Given the description of an element on the screen output the (x, y) to click on. 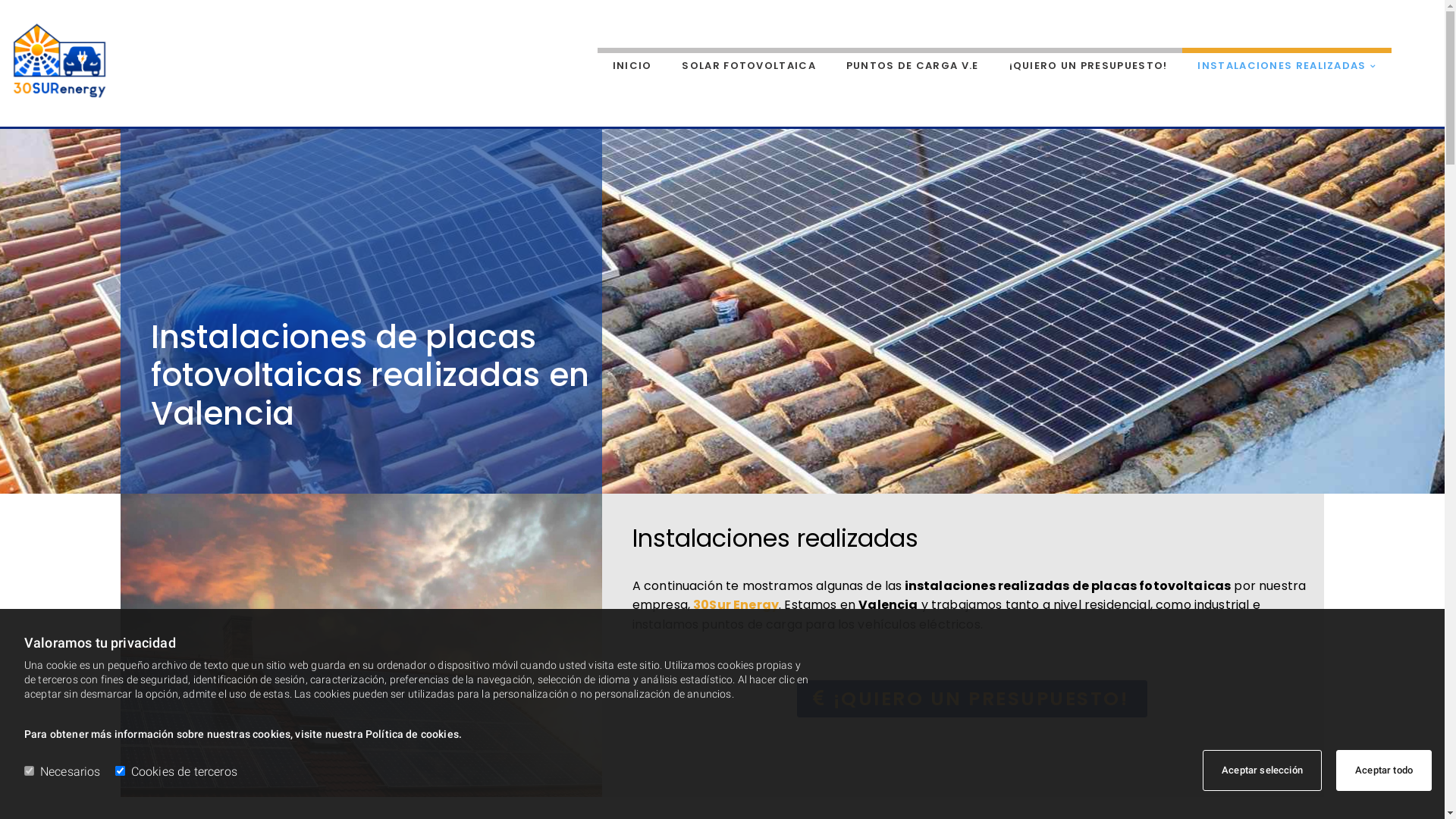
Aceptar todo Element type: text (1383, 769)
INSTALACIONES REALIZADAS Element type: text (1286, 62)
INSTALACIONES REALIZADAS links Element type: hover (1406, 62)
30Sur Energy Element type: text (735, 604)
SOLAR FOTOVOLTAICA Element type: text (748, 62)
PUNTOS DE CARGA V.E Element type: text (912, 62)
INICIO Element type: text (632, 62)
